Given the description of an element on the screen output the (x, y) to click on. 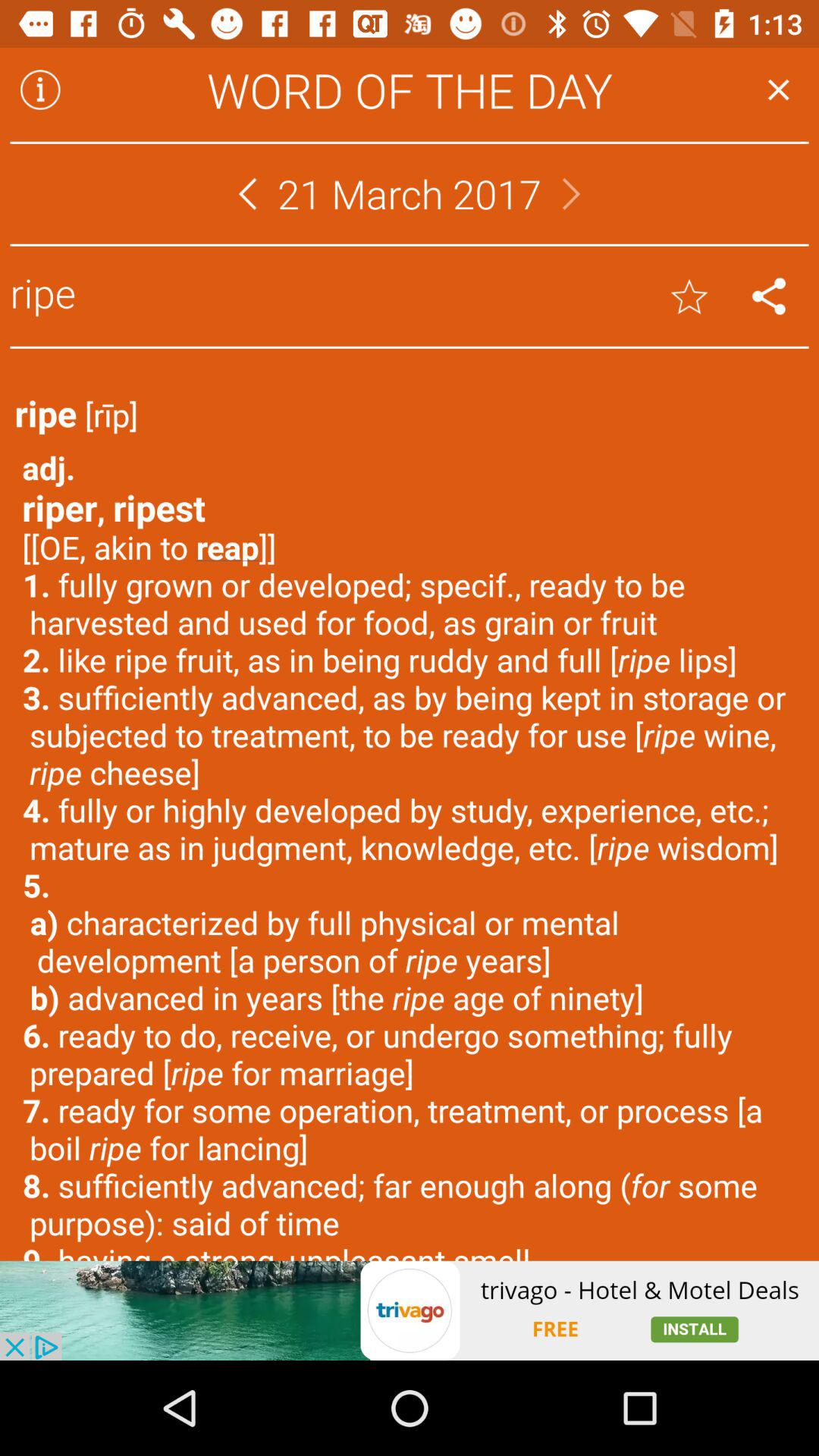
next button (571, 193)
